Given the description of an element on the screen output the (x, y) to click on. 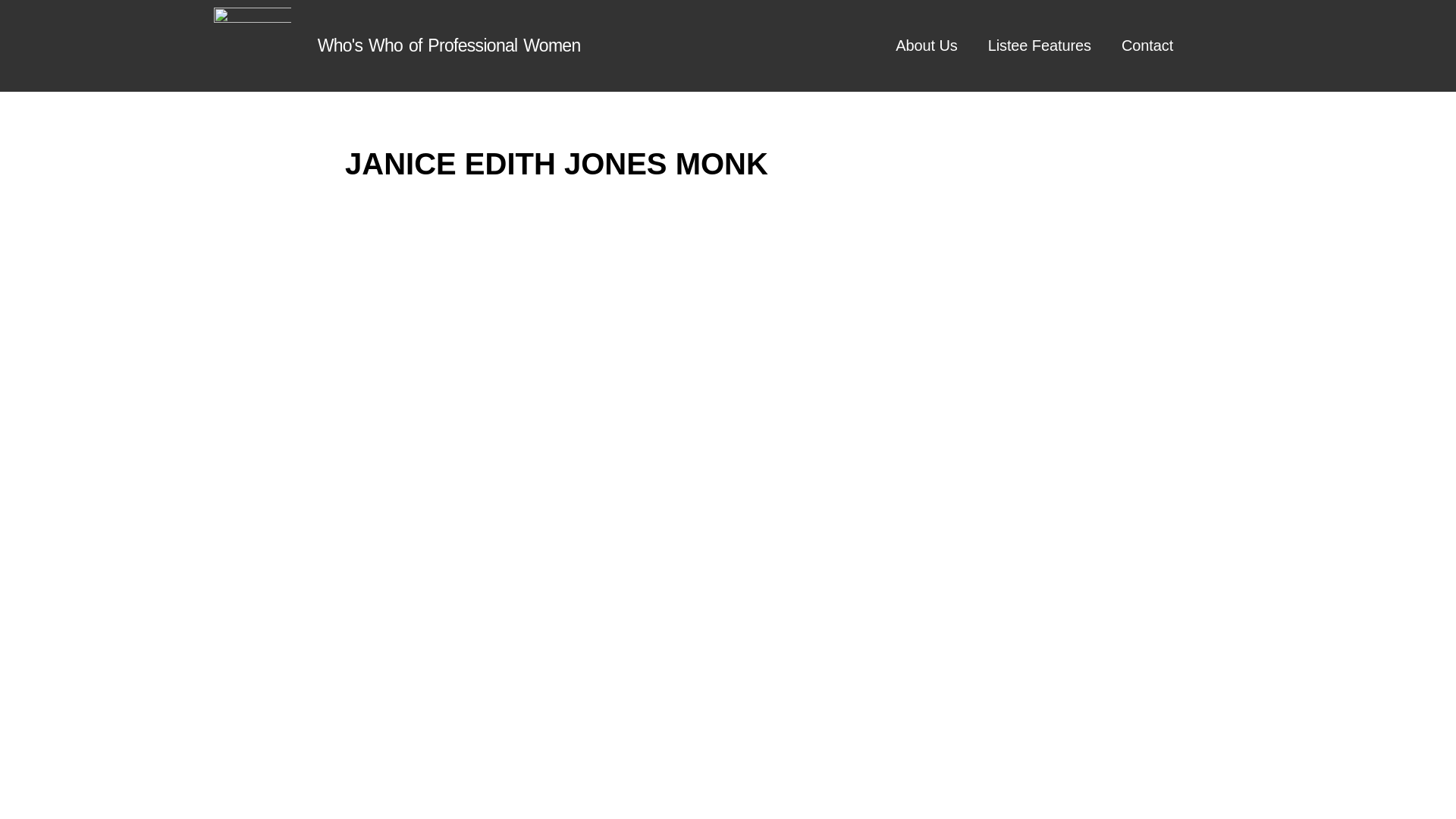
Who's Who of Professional Women (448, 45)
Listee Features (1039, 45)
About Us (926, 45)
Contact (1147, 45)
